Given the description of an element on the screen output the (x, y) to click on. 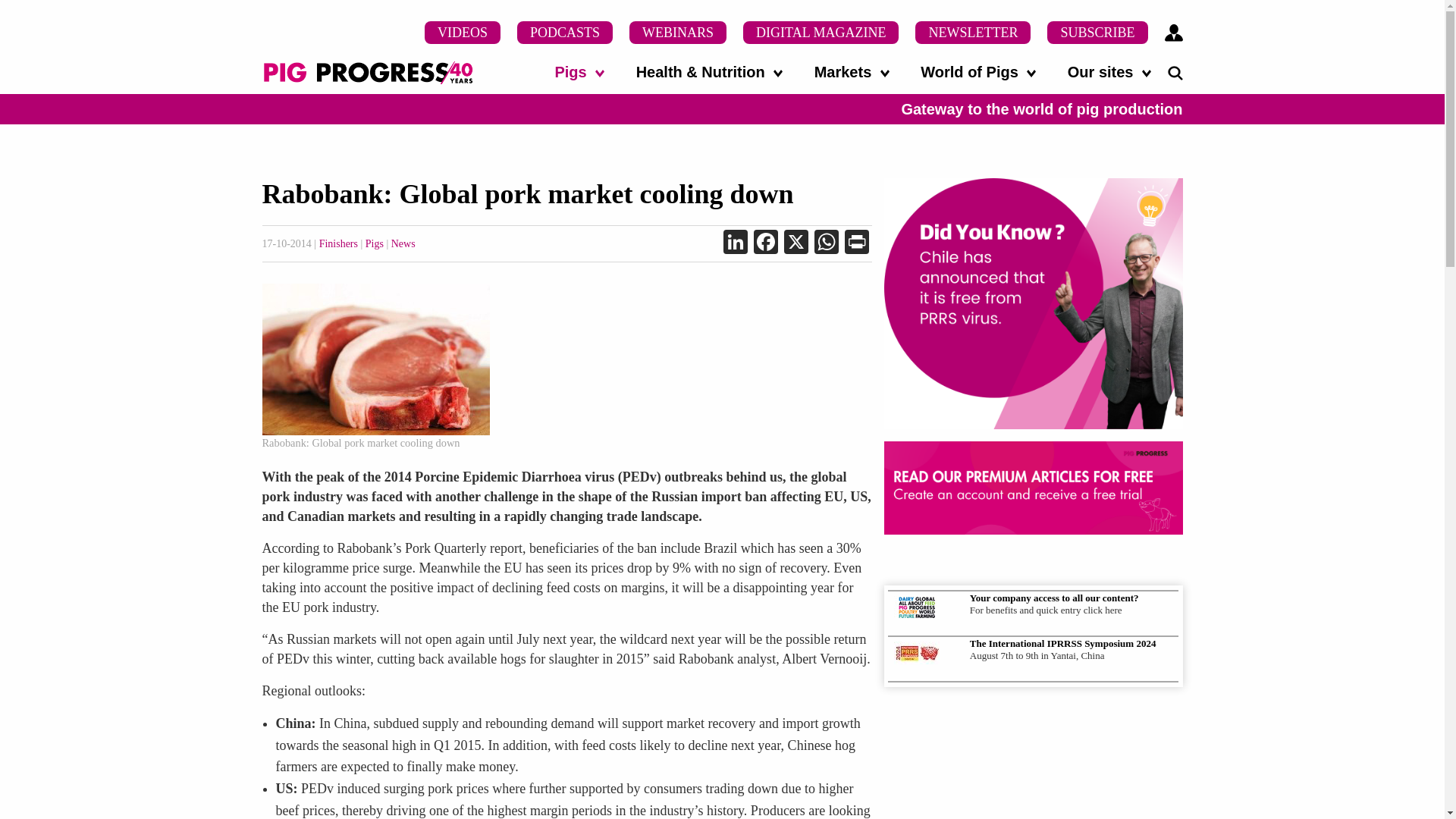
VIDEOS (462, 32)
WhatsApp (825, 243)
WEBINARS (677, 32)
Facebook (765, 243)
PODCASTS (564, 32)
DIGITAL MAGAZINE (820, 32)
NEWSLETTER (972, 32)
X (795, 243)
Pigs (579, 71)
SUBSCRIBE (1096, 32)
Print (856, 243)
LinkedIn (735, 243)
